Given the description of an element on the screen output the (x, y) to click on. 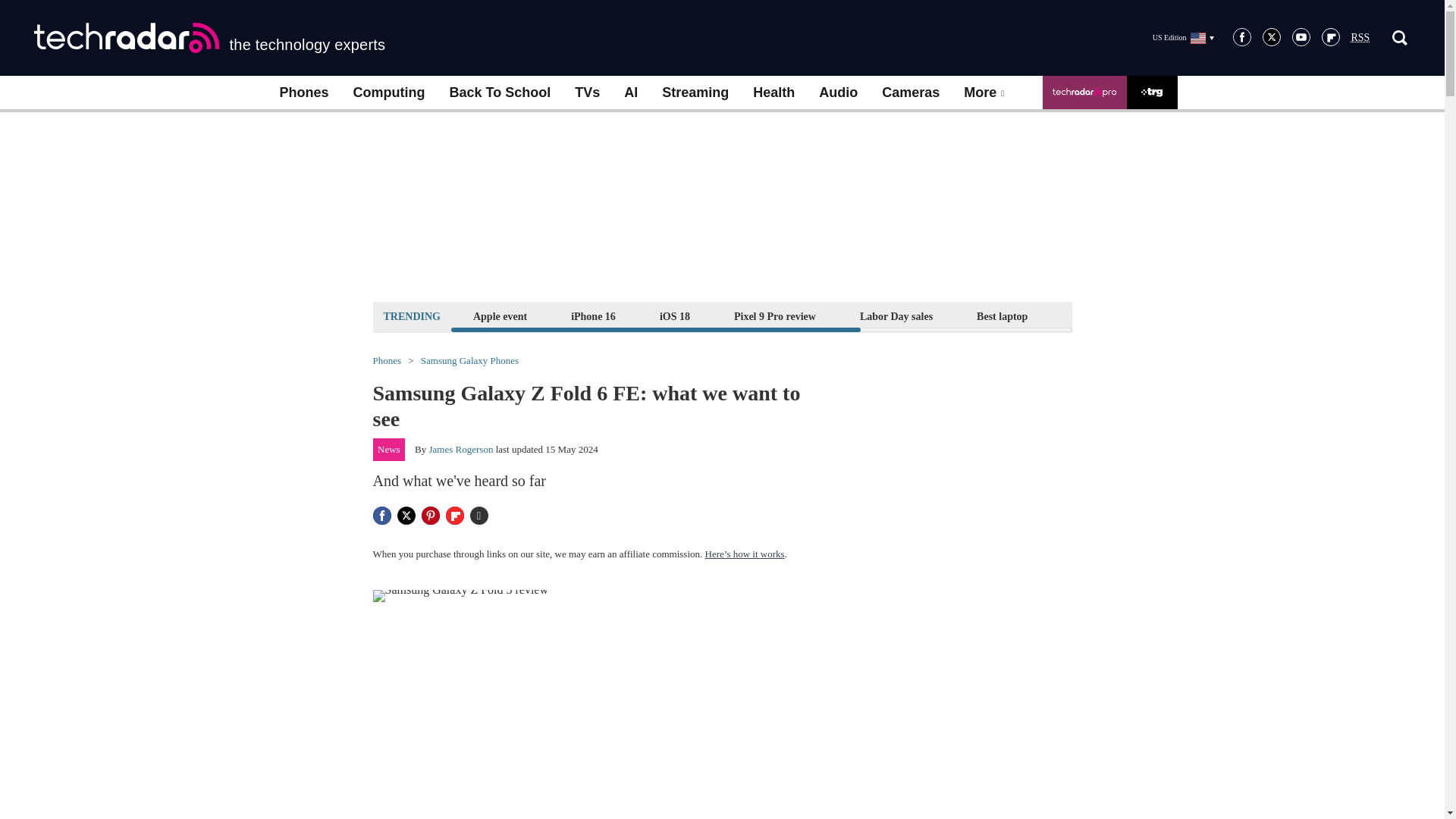
Computing (389, 92)
the technology experts (209, 38)
US Edition (1182, 37)
Phones (303, 92)
Really Simple Syndication (1360, 37)
TVs (586, 92)
Health (773, 92)
Streaming (695, 92)
Cameras (910, 92)
Back To School (499, 92)
